Given the description of an element on the screen output the (x, y) to click on. 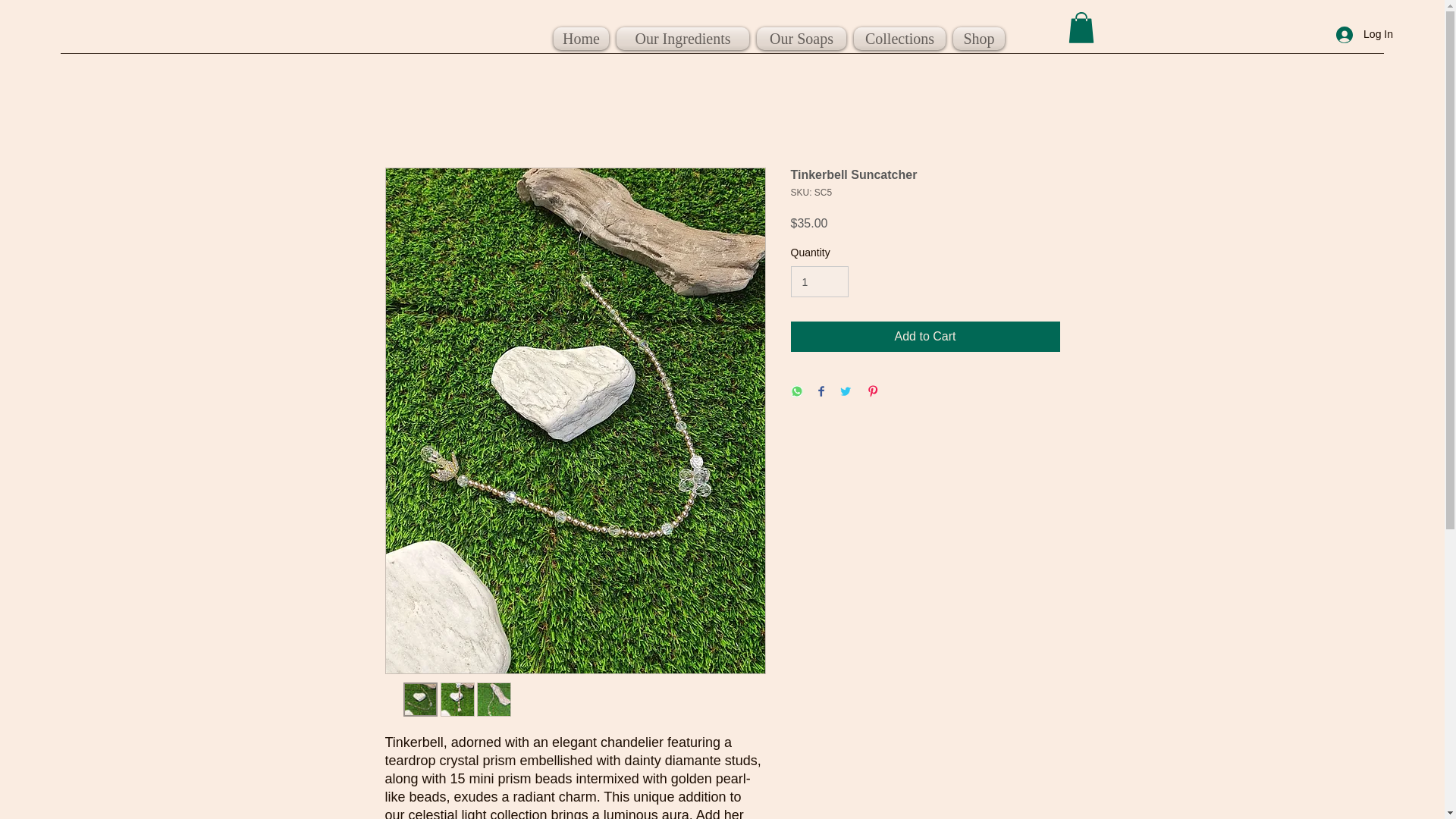
1 (818, 281)
Add to Cart (924, 336)
Our Ingredients (682, 38)
Shop (979, 38)
Collections (899, 38)
Home (581, 38)
Our Soaps (801, 38)
Log In (1363, 34)
